Given the description of an element on the screen output the (x, y) to click on. 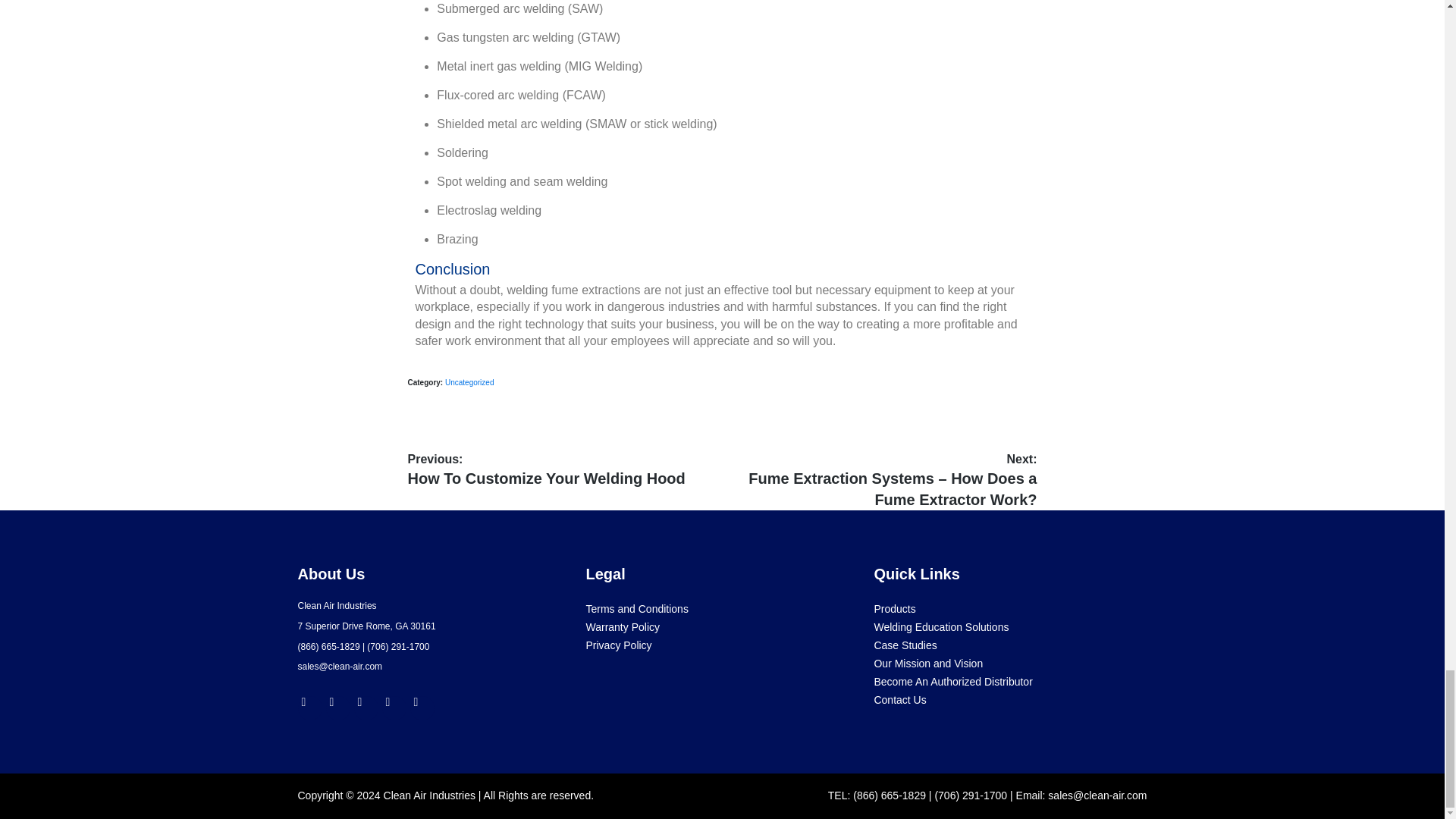
Learn about our commitment to you (927, 663)
Discover our products (894, 608)
Learn about our privacy policy and how we manage your data (617, 645)
Explore some of our success stories (904, 645)
Find ways to contact us (899, 699)
Learn our terms and conditions (636, 608)
